Given the description of an element on the screen output the (x, y) to click on. 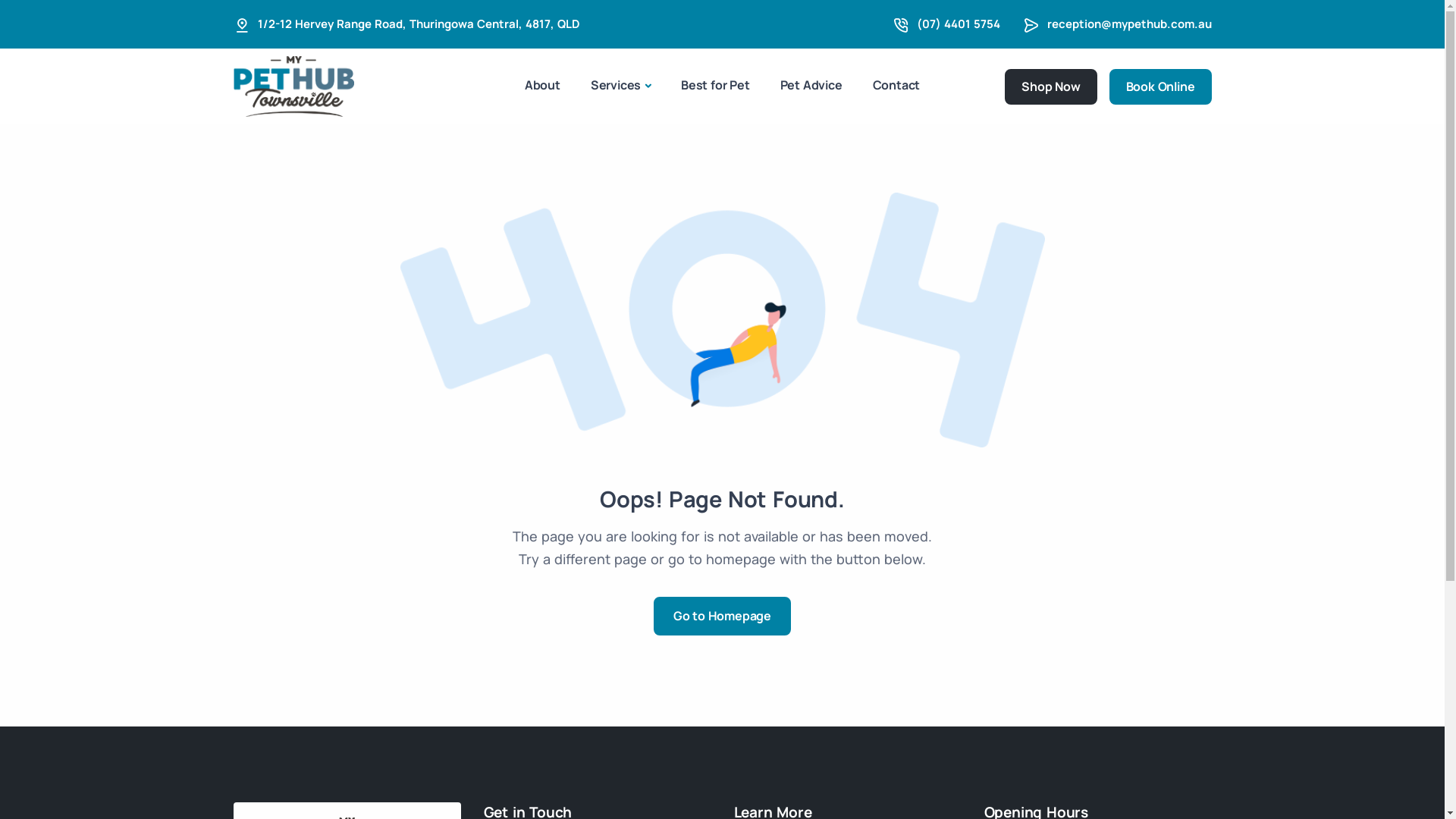
reception@mypethub.com.au Element type: text (1128, 23)
Pet Advice Element type: text (811, 84)
(07) 4401 5754 Element type: text (957, 23)
Book Online Element type: text (1160, 86)
Services Element type: text (620, 86)
Go to Homepage Element type: text (721, 615)
1/2-12 Hervey Range Road, Thuringowa Central, 4817, QLD Element type: text (418, 23)
About Element type: text (542, 84)
Shop Now Element type: text (1050, 86)
Contact Element type: text (896, 84)
Best for Pet Element type: text (715, 84)
